Given the description of an element on the screen output the (x, y) to click on. 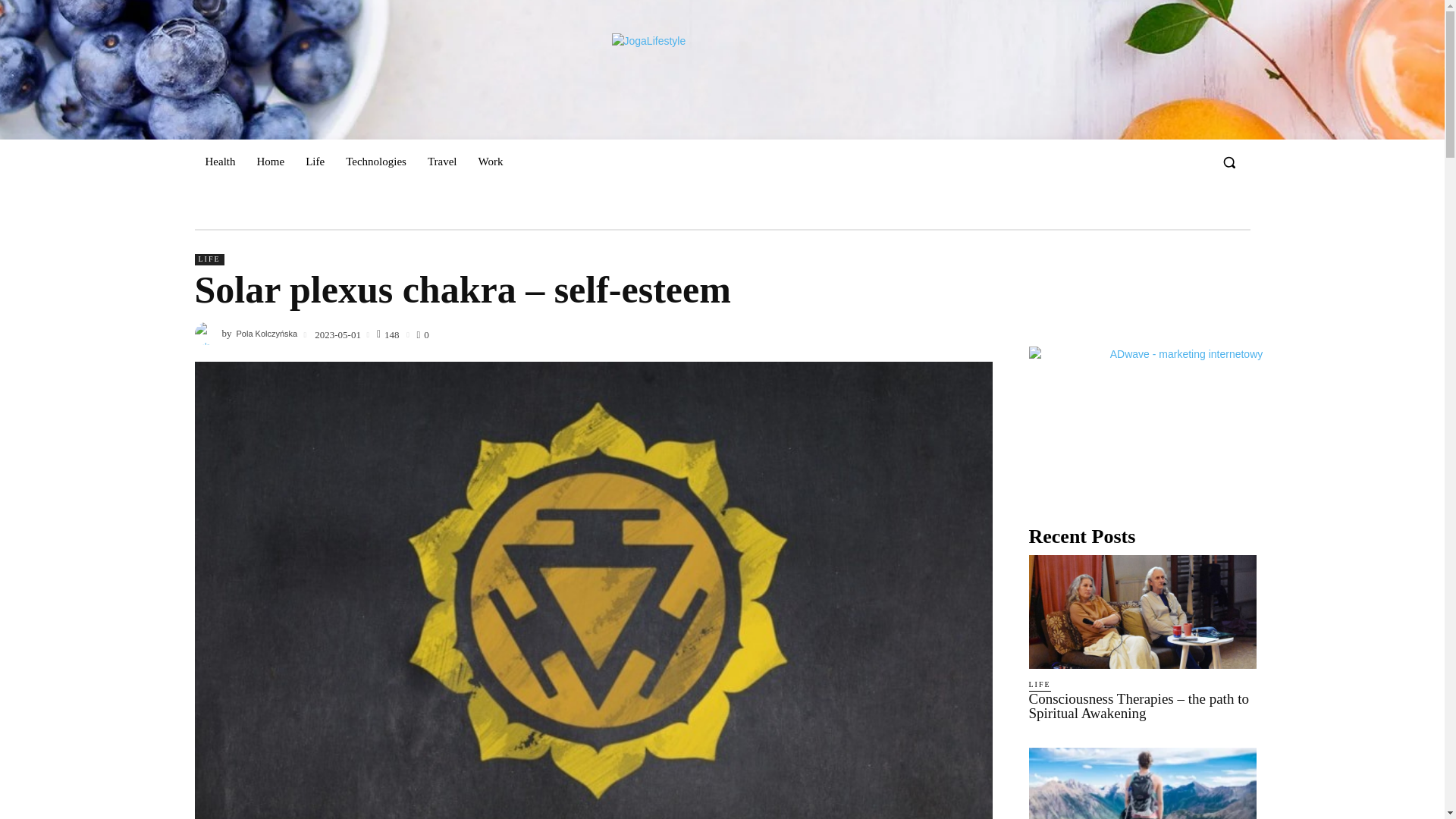
Travel (441, 161)
Work (490, 161)
Health (219, 161)
JogaLifestyle (713, 67)
Home (270, 161)
JogaLifestyle (713, 67)
Life (314, 161)
Technologies (375, 161)
